Given the description of an element on the screen output the (x, y) to click on. 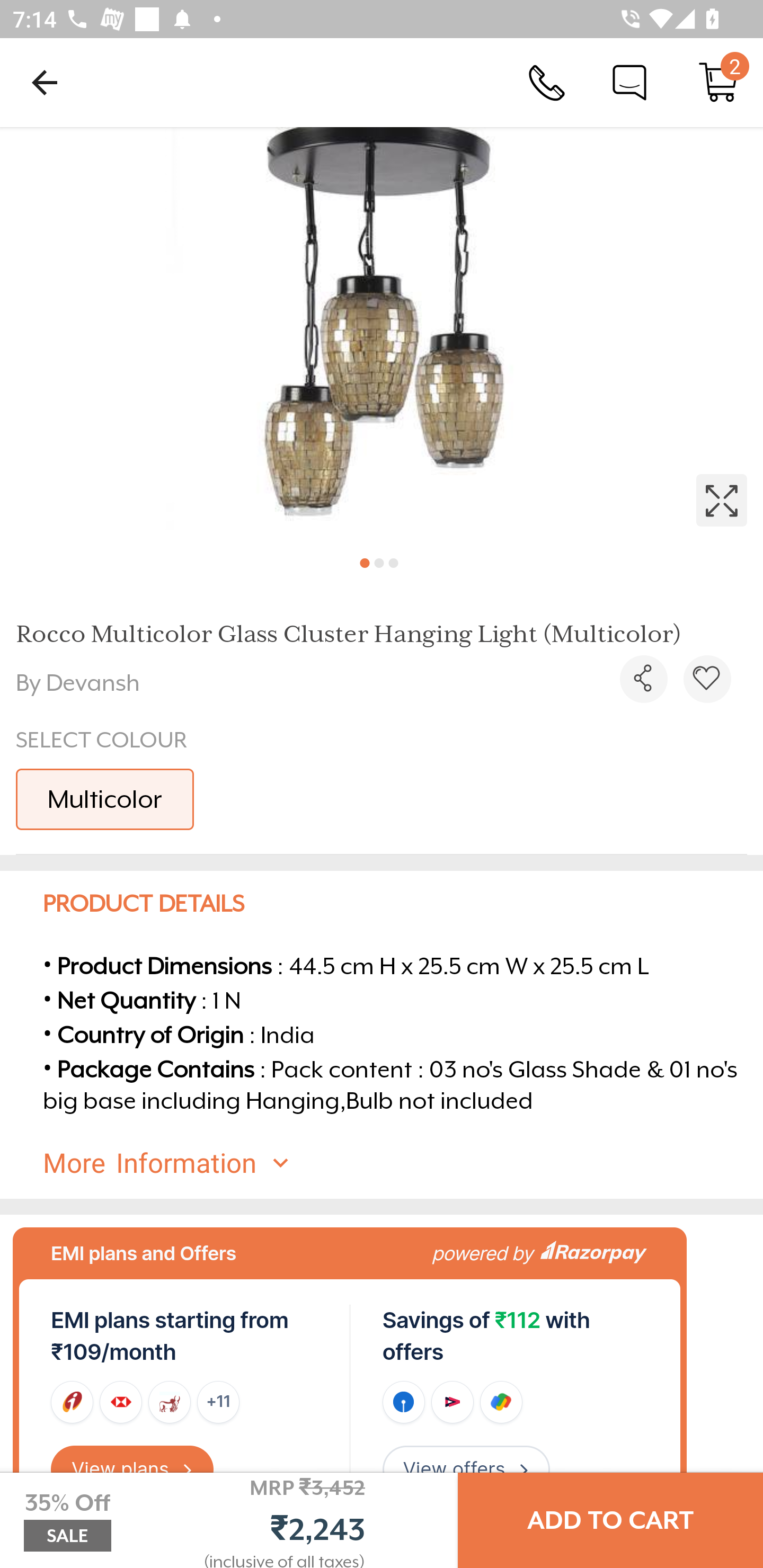
Navigate up (44, 82)
Call Us (546, 81)
Chat (629, 81)
Cart (718, 81)
 (381, 334)
 (643, 678)
 (706, 678)
Multicolor (104, 798)
More Information  (396, 1163)
ADD TO CART (610, 1520)
